Given the description of an element on the screen output the (x, y) to click on. 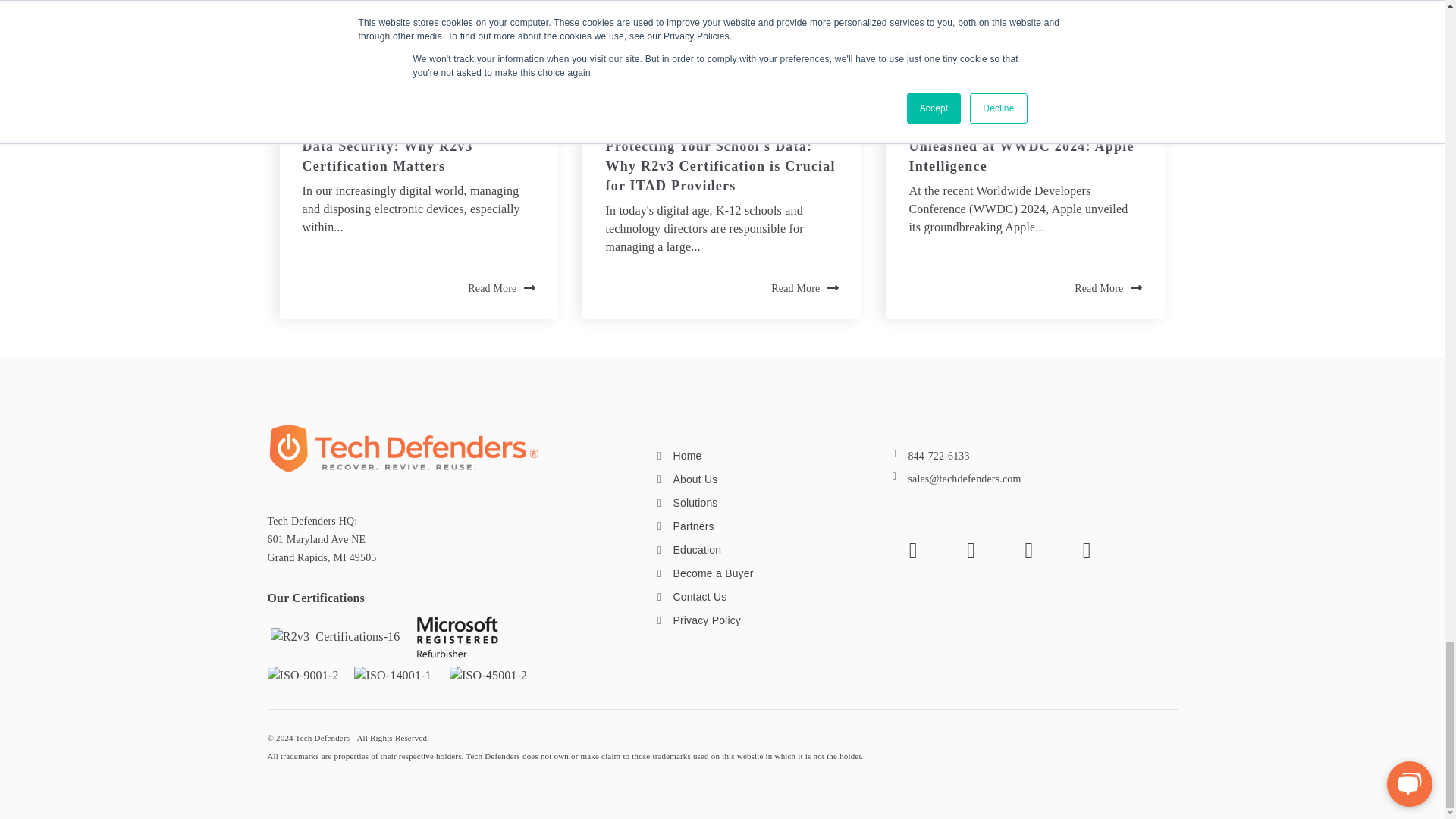
LinkedIn (1028, 550)
TD-Footer-Logo (403, 448)
Instagram (1086, 550)
Twitter (971, 550)
Facebook (912, 550)
